Given the description of an element on the screen output the (x, y) to click on. 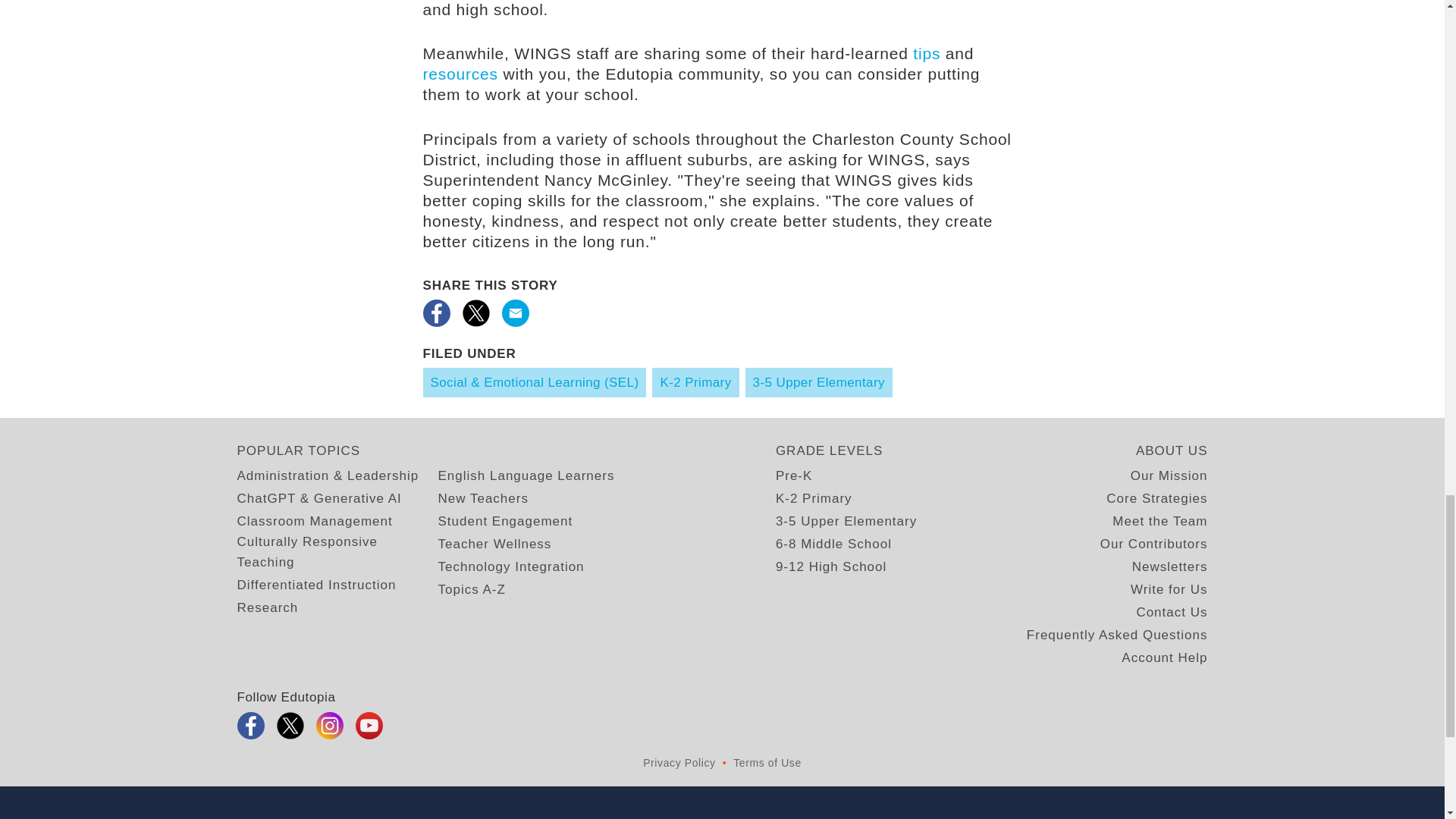
Differentiated Instruction (315, 584)
Classroom Management (313, 521)
tips (926, 53)
K-2 Primary (695, 382)
resources (460, 73)
Research (266, 607)
Culturally Responsive Teaching (336, 551)
English Language Learners (526, 476)
New Teachers (483, 498)
Student Engagement (505, 521)
